Given the description of an element on the screen output the (x, y) to click on. 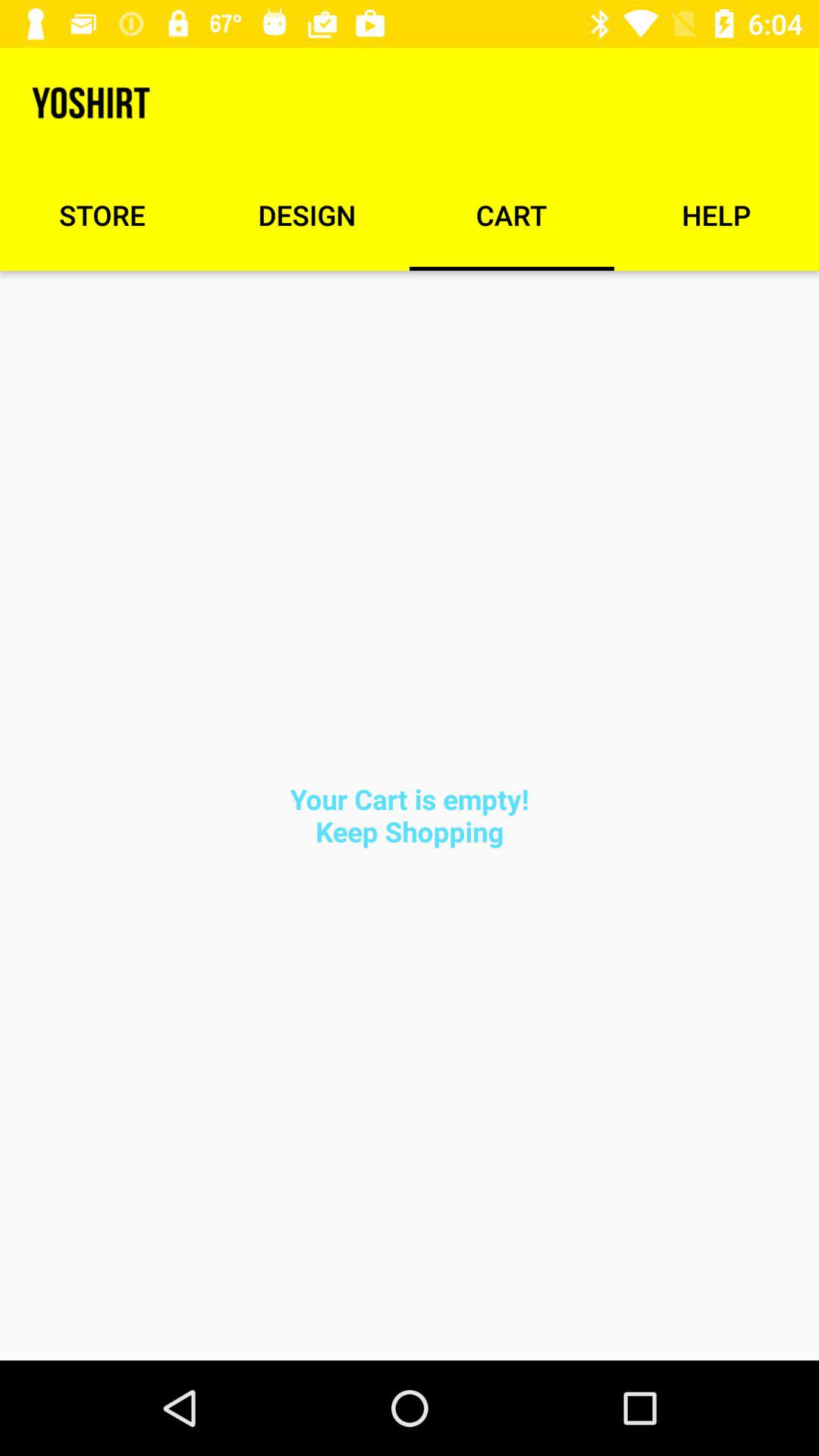
select your cart is at the center (409, 815)
